Given the description of an element on the screen output the (x, y) to click on. 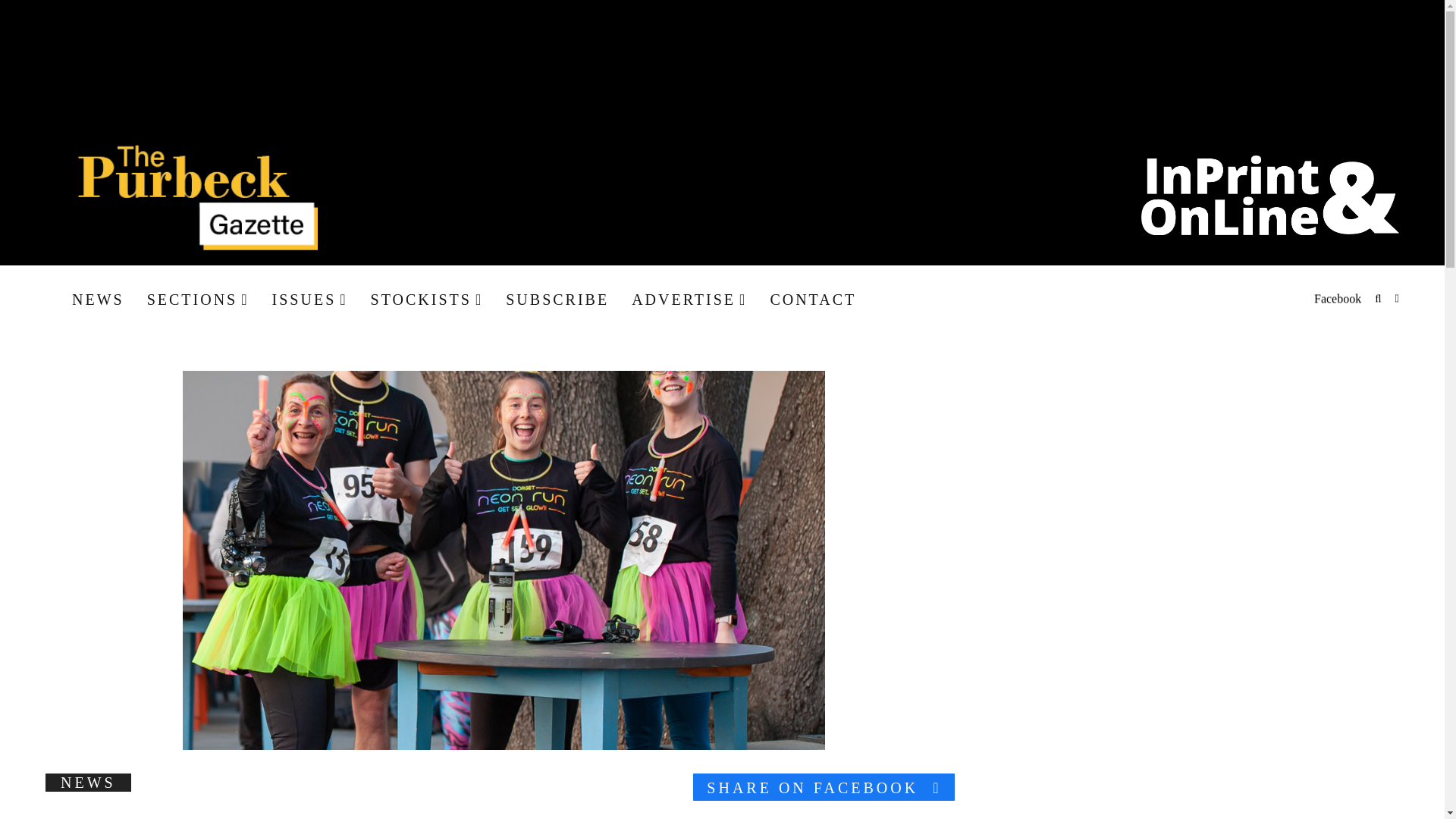
SECTIONS (197, 299)
SUBSCRIBE (556, 299)
ADVERTISE (688, 299)
STOCKISTS (427, 299)
ISSUES (309, 299)
CONTACT (813, 299)
